Given the description of an element on the screen output the (x, y) to click on. 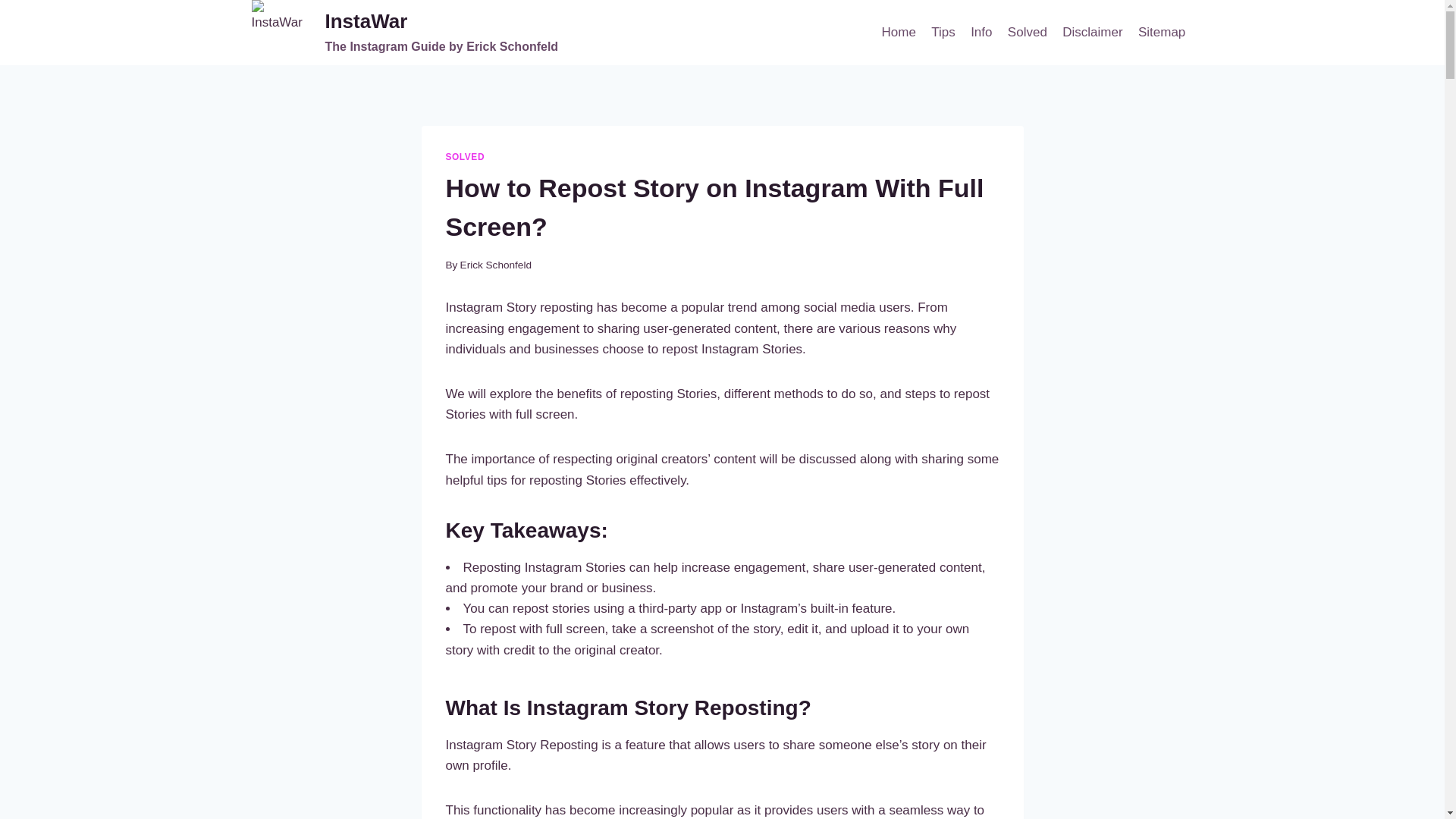
Info (981, 32)
SOLVED (464, 156)
Solved (1027, 32)
Sitemap (1162, 32)
Home (898, 32)
Erick Schonfeld (495, 265)
Tips (405, 32)
Disclaimer (942, 32)
